Given the description of an element on the screen output the (x, y) to click on. 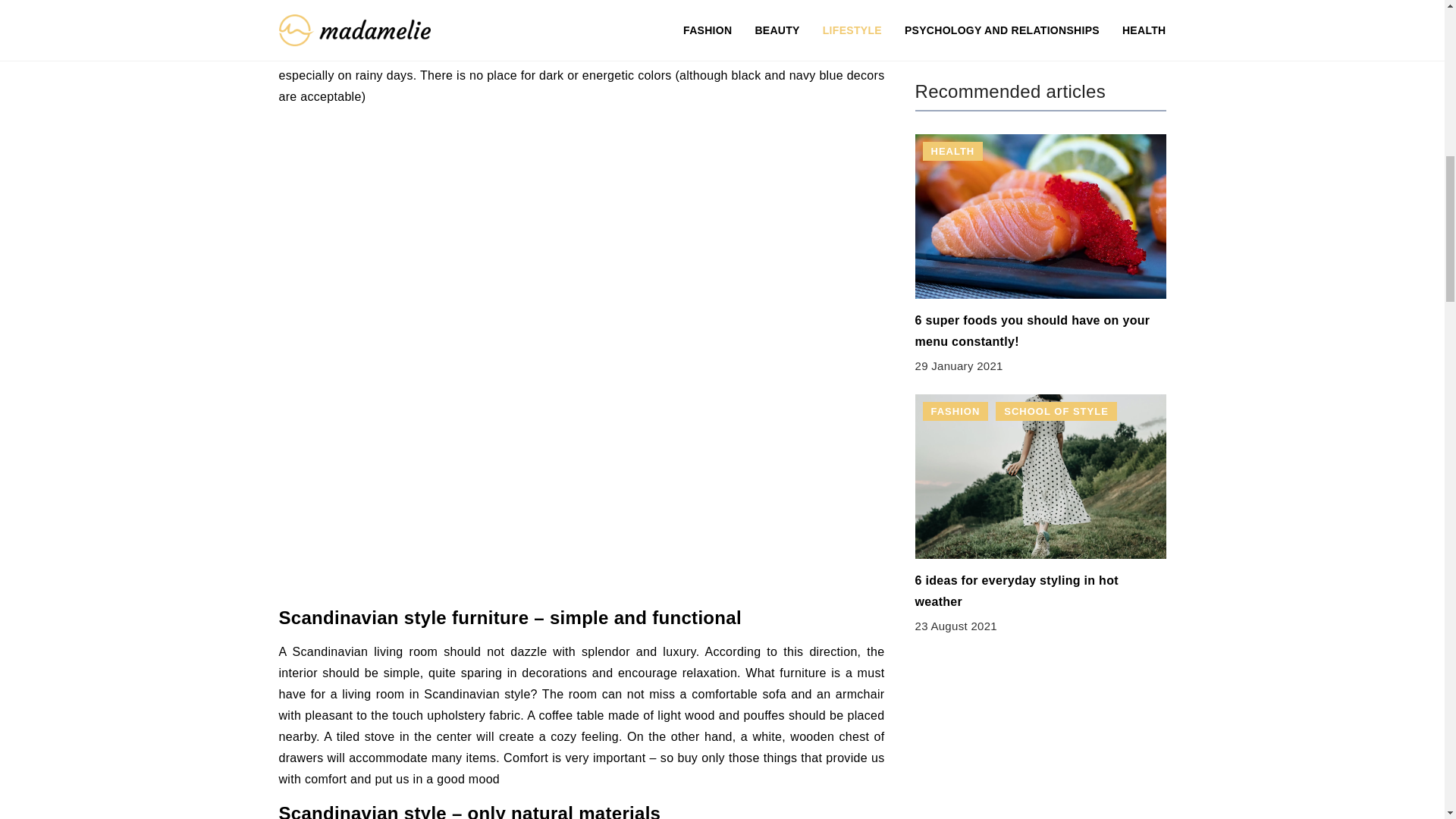
6 ideas for everyday styling in hot weather (1016, 523)
6 super foods you should have on your menu constantly! (1032, 264)
